Given the description of an element on the screen output the (x, y) to click on. 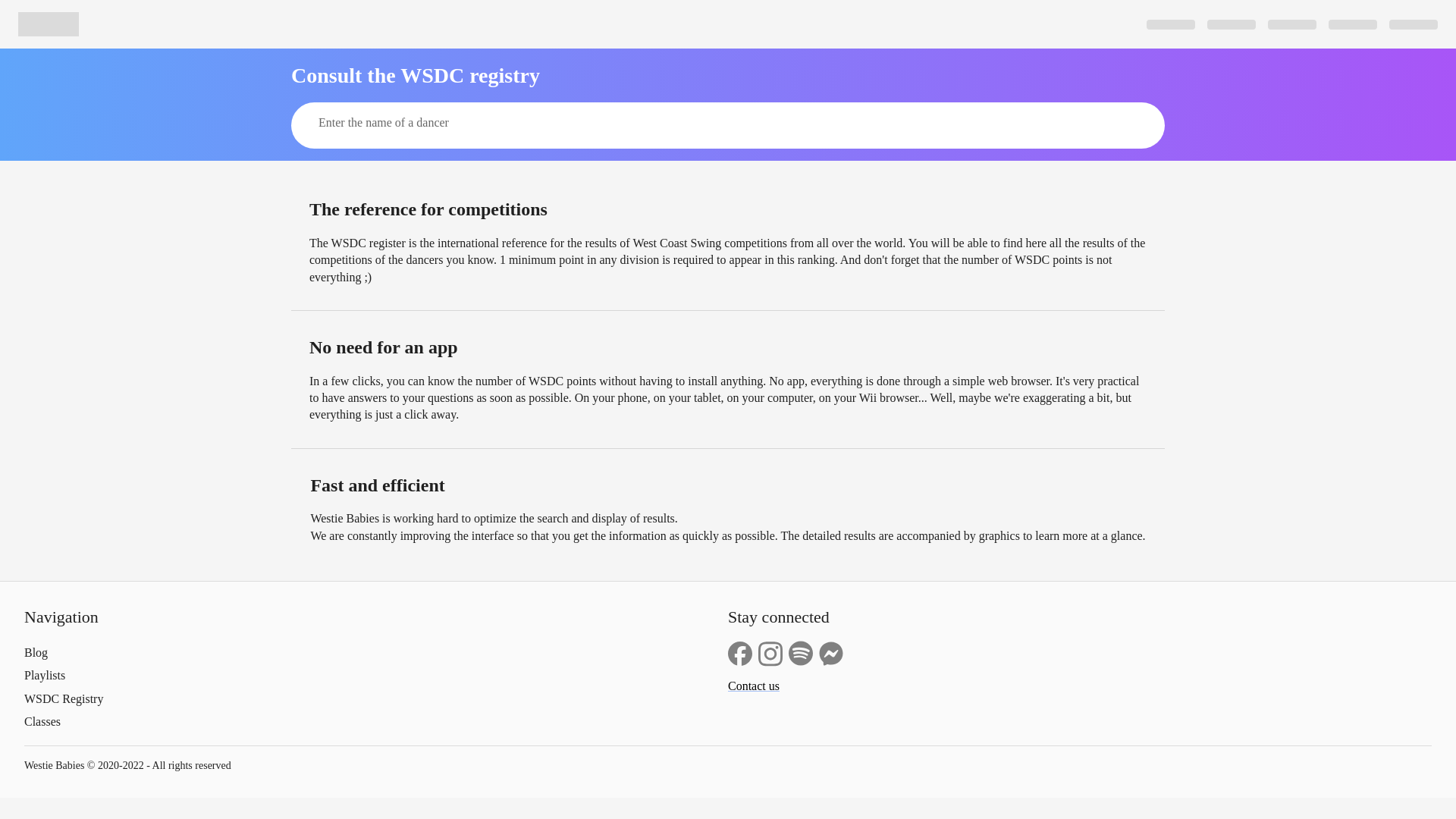
Facebook (740, 653)
Instagram (770, 653)
Blog (376, 652)
Messenger (830, 653)
Spotify (800, 653)
Playlists (376, 675)
WSDC Registry (376, 698)
Contact us (753, 685)
Classes (376, 721)
